Given the description of an element on the screen output the (x, y) to click on. 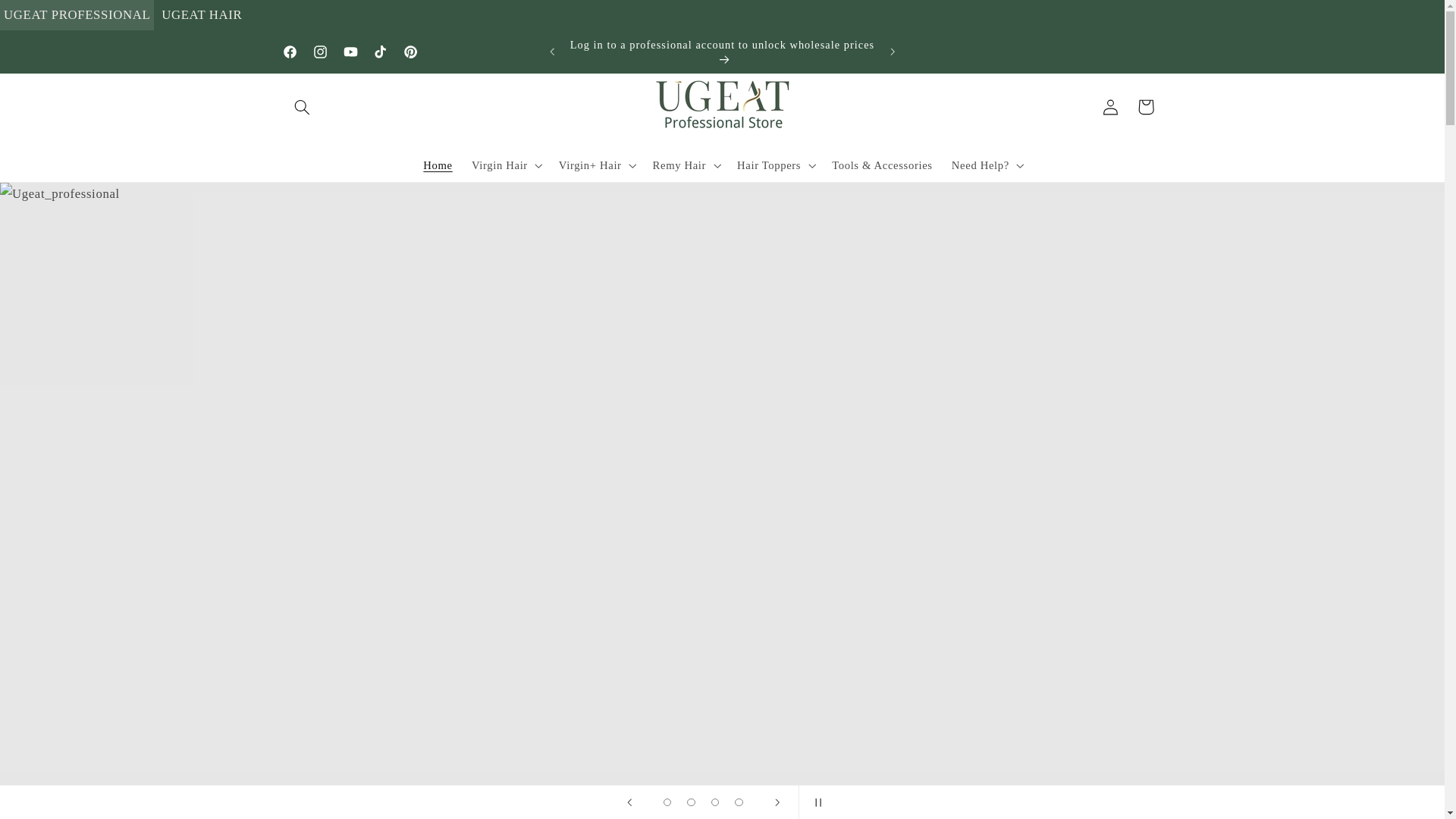
UGEAT PROFESSIONAL (77, 15)
Skip to content (48, 18)
Log in to a professional account to unlock wholesale prices (722, 52)
YouTube (349, 51)
UGEAT HAIR (201, 15)
Pinterest (411, 51)
TikTok (380, 51)
Facebook (289, 51)
Instagram (319, 51)
